Given the description of an element on the screen output the (x, y) to click on. 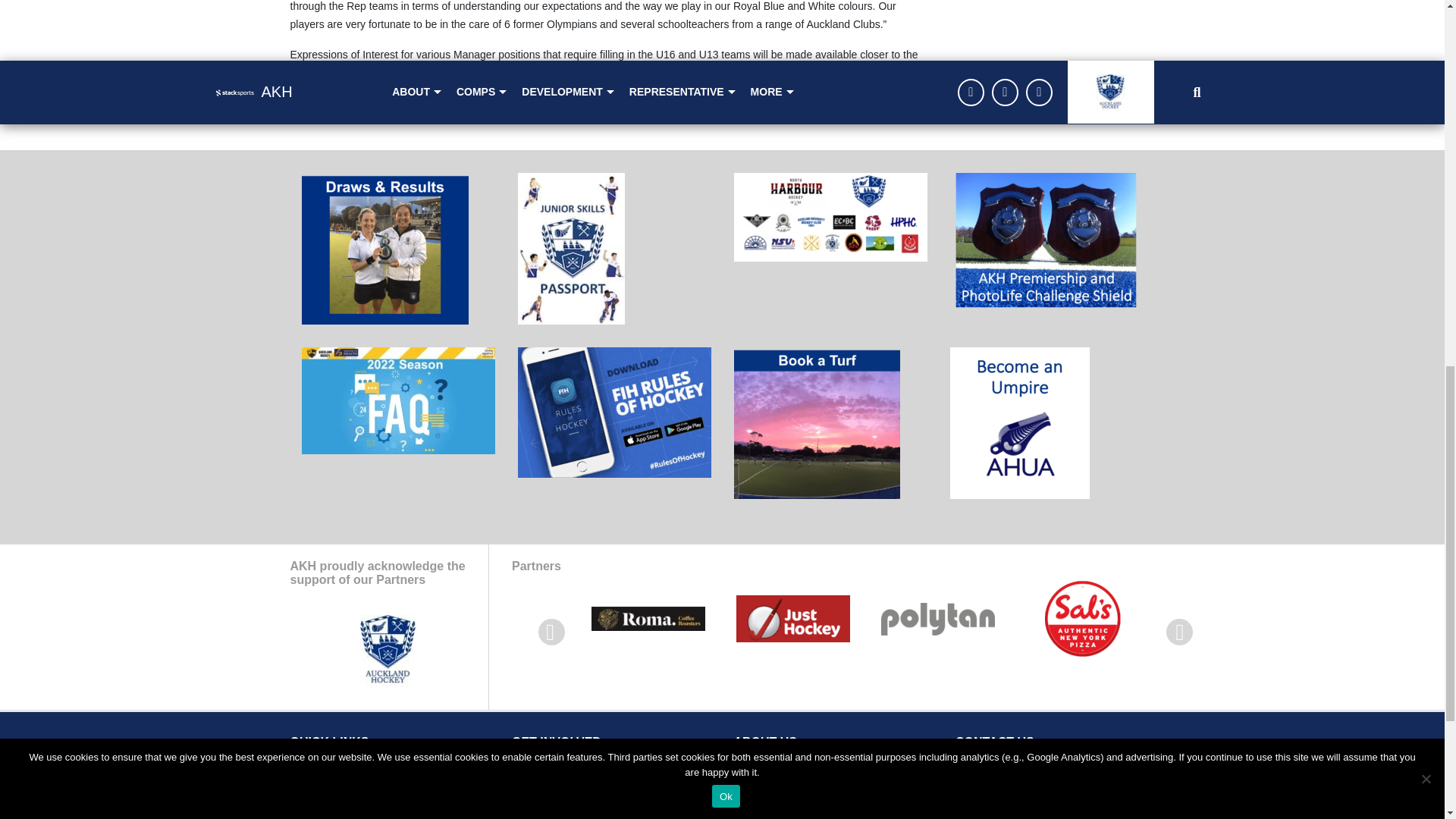
Join a Club (538, 777)
Hockey Programmes (561, 813)
Umpire Hockey (548, 796)
